Given the description of an element on the screen output the (x, y) to click on. 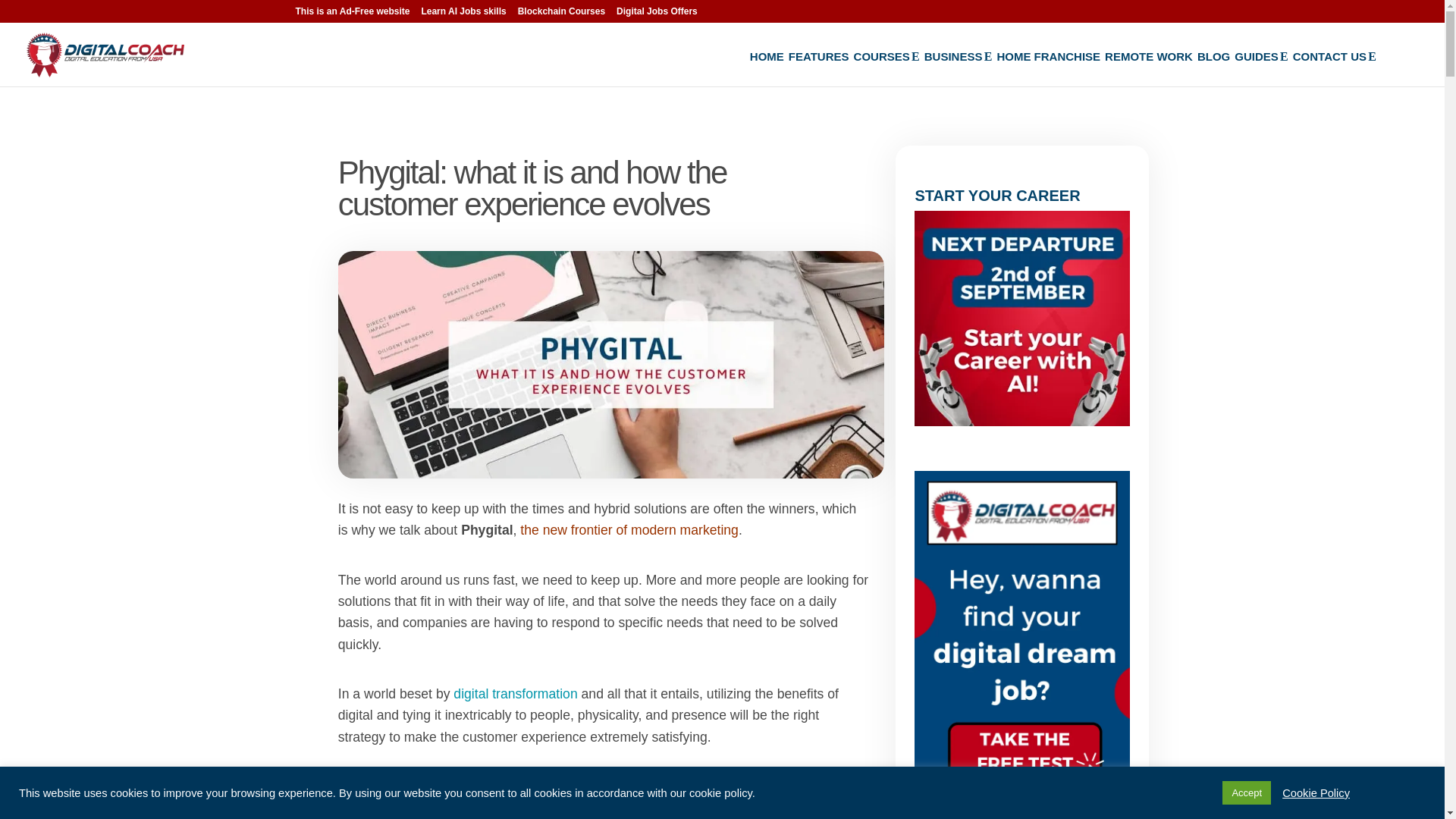
Free Resources. (1256, 56)
Digital Jobs Offers (656, 14)
Discover our Courses on Digital Marketing areas. (881, 56)
BUSINESS (958, 67)
HOME (766, 67)
This is an Ad-Free website (352, 14)
FEATURES (818, 67)
COURSES (886, 67)
Learn AI Jobs skills (462, 14)
Blockchain Courses (561, 14)
